Given the description of an element on the screen output the (x, y) to click on. 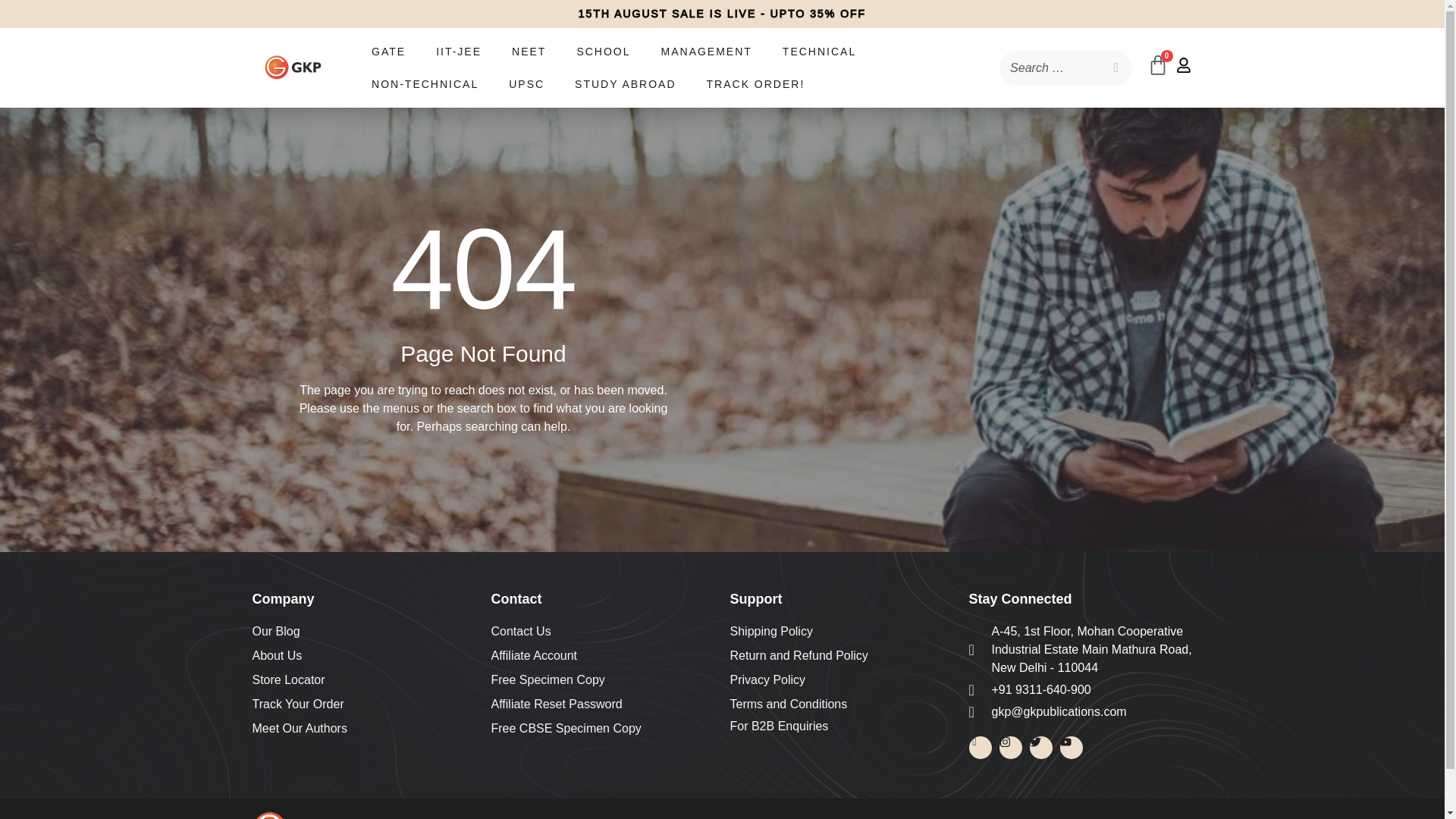
MANAGEMENT (706, 51)
NEET (528, 51)
SCHOOL (602, 51)
STUDY ABROAD (624, 83)
TECHNICAL (818, 51)
NON-TECHNICAL (424, 83)
IIT-JEE (458, 51)
UPSC (526, 83)
GATE (388, 51)
